Given the description of an element on the screen output the (x, y) to click on. 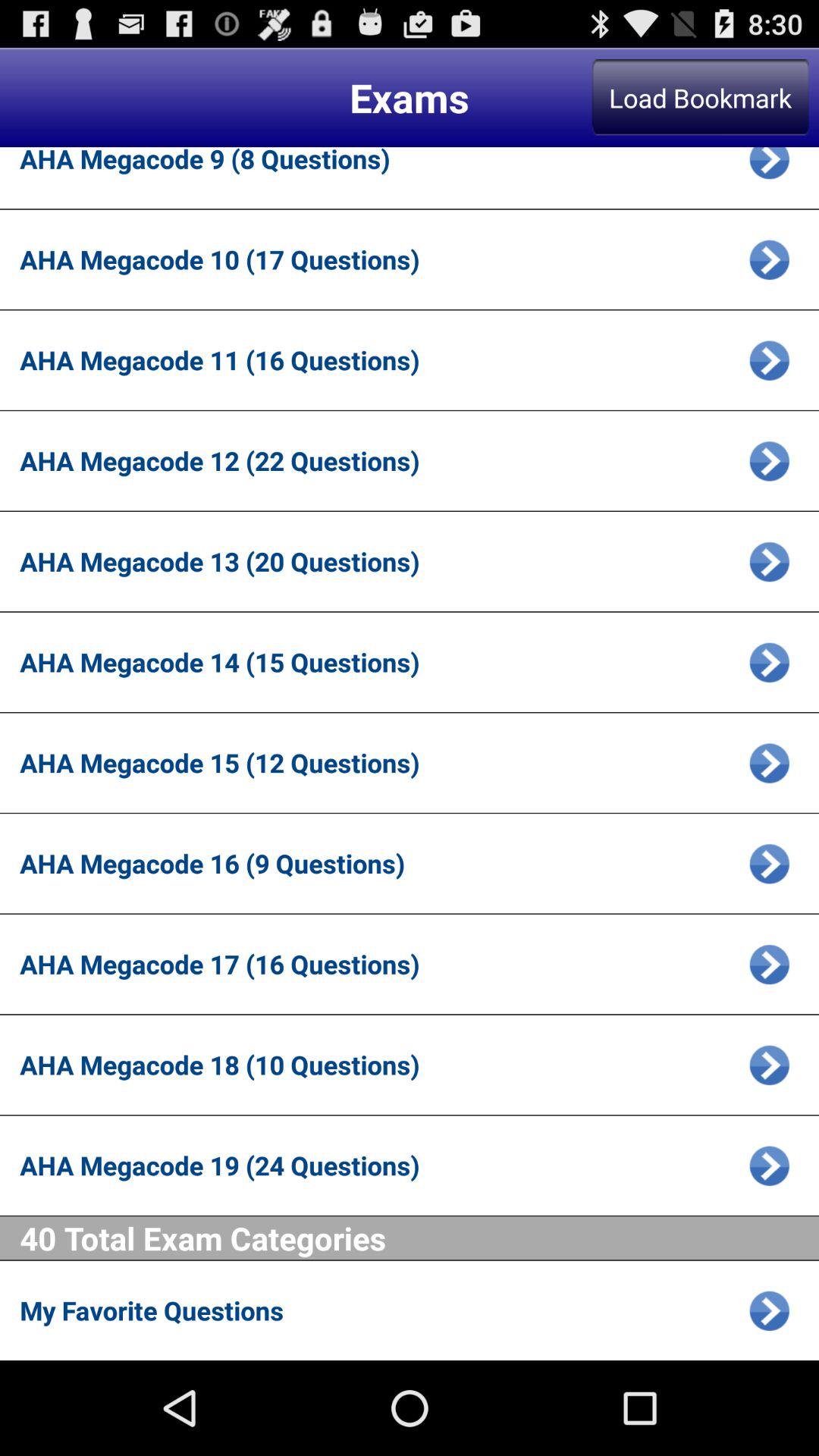
view (769, 762)
